Given the description of an element on the screen output the (x, y) to click on. 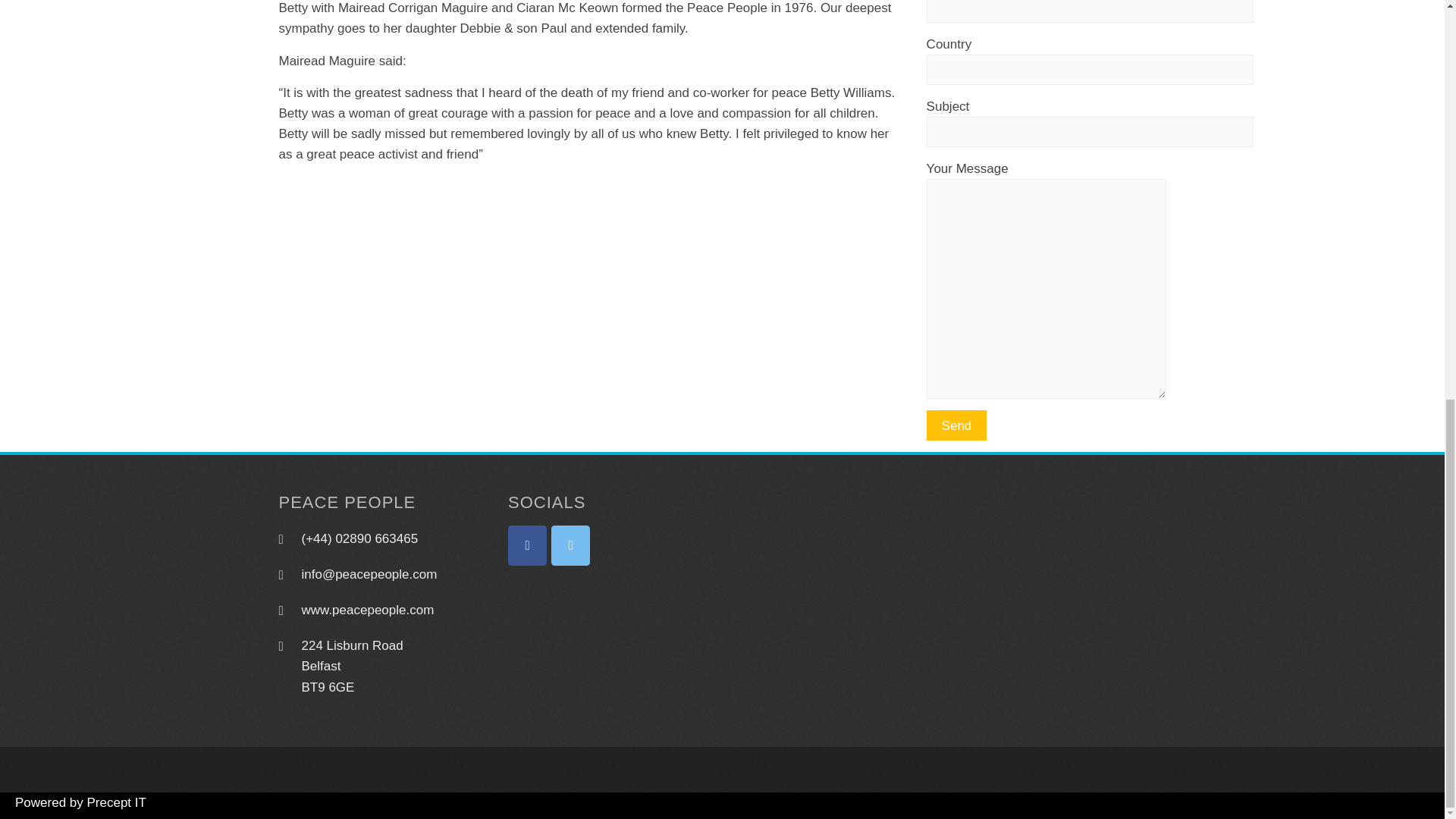
Powered by Precept IT (73, 802)
Send (956, 425)
The Peace People on Twitter (570, 545)
Send (956, 425)
The Peace People on Facebook (527, 545)
